Given the description of an element on the screen output the (x, y) to click on. 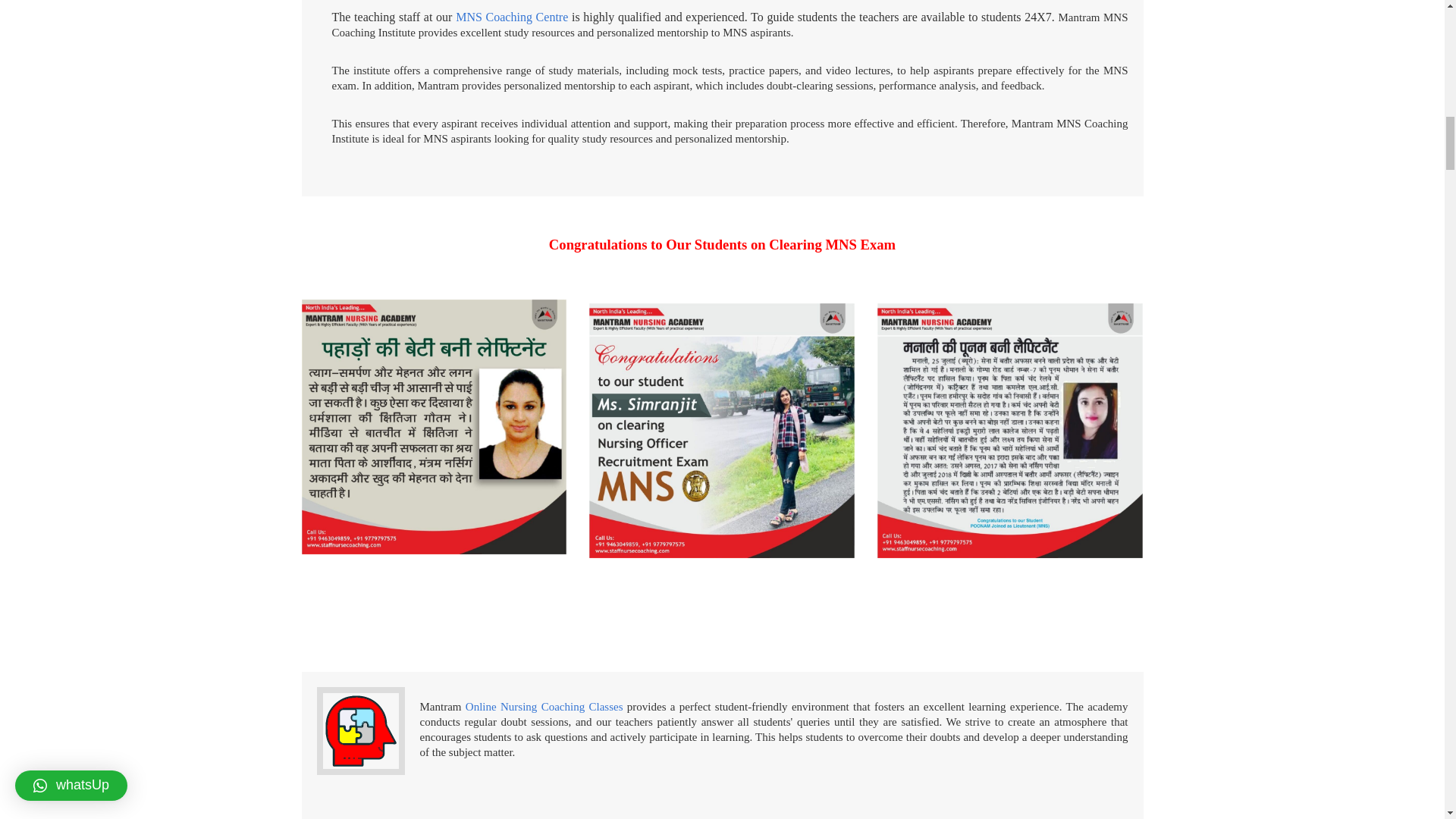
MNS Coaching Centre (511, 16)
Online Nursing Coaching Classes (544, 706)
